Given the description of an element on the screen output the (x, y) to click on. 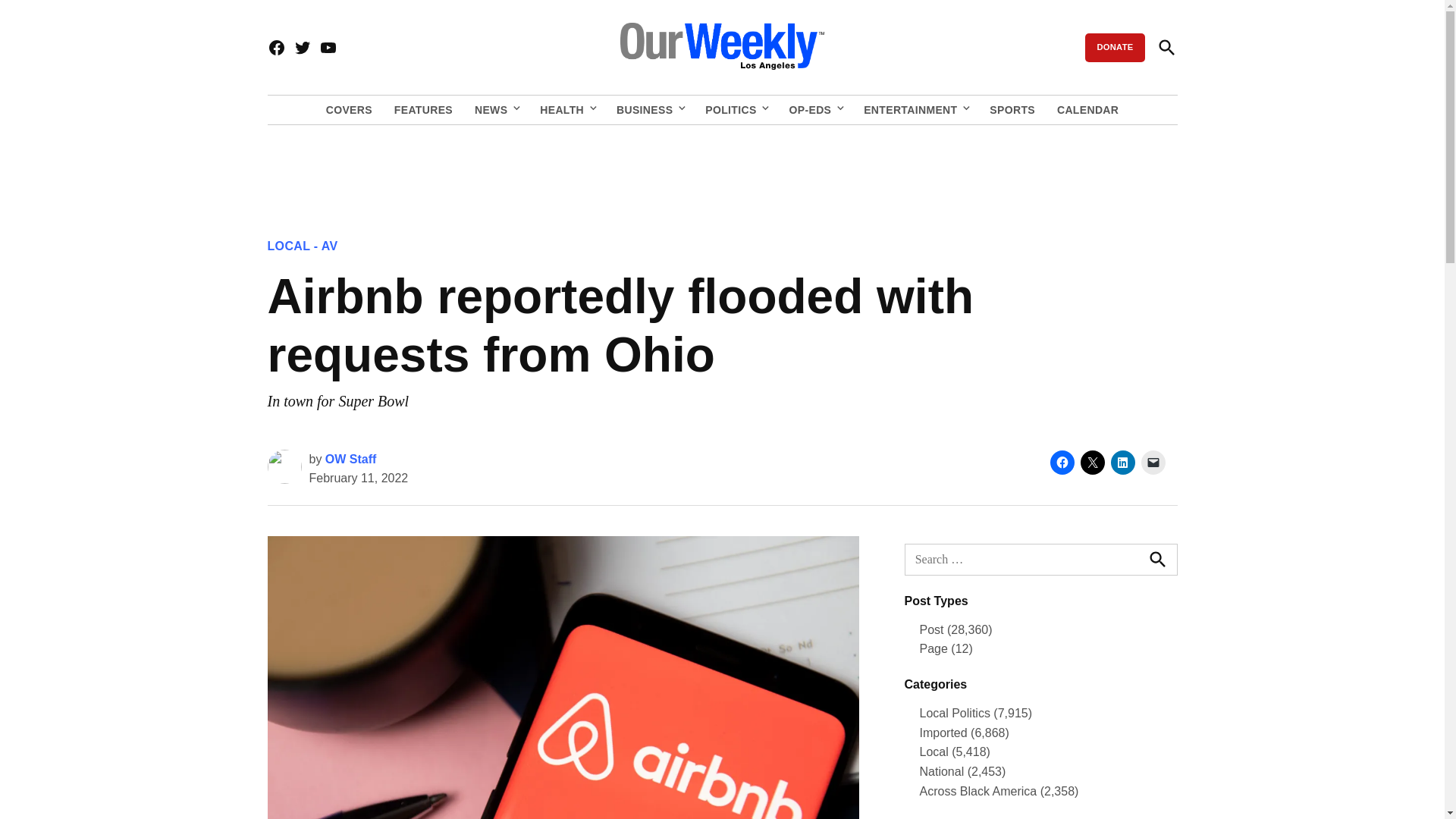
3rd party ad content (721, 171)
Click to share on X (1091, 462)
Click to share on LinkedIn (1121, 462)
Click to email a link to a friend (1152, 462)
Click to share on Facebook (1061, 462)
